Given the description of an element on the screen output the (x, y) to click on. 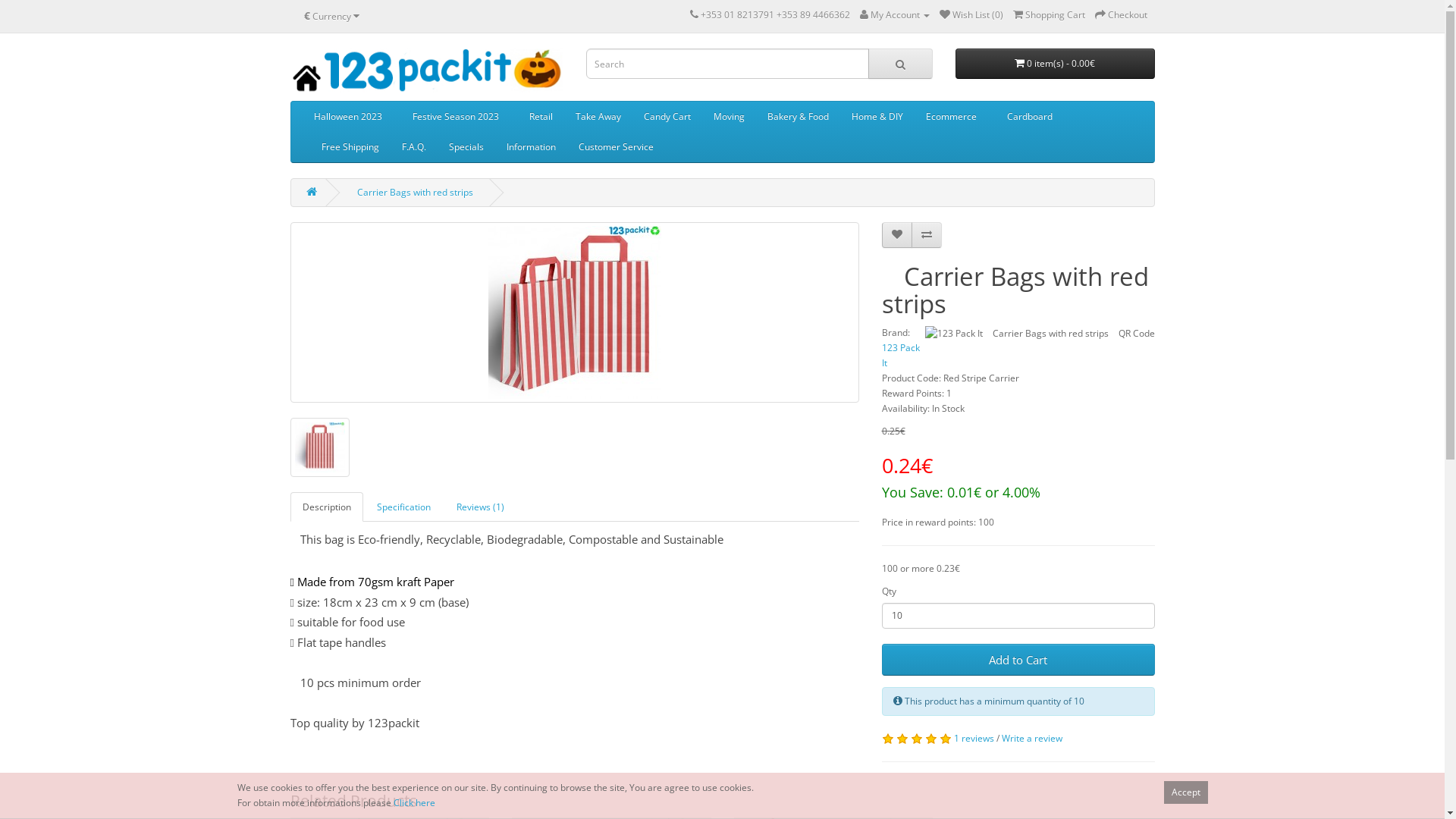
Specification Element type: text (403, 505)
Wish List (0) Element type: text (970, 14)
Information Element type: text (530, 146)
Bakery & Food Element type: text (797, 116)
Shopping Cart Element type: text (1049, 14)
Specials Element type: text (465, 146)
Customer Service Element type: text (616, 146)
Candy Cart Element type: text (667, 116)
123 Pack It Element type: text (900, 355)
My Account Element type: text (894, 14)
Ecommerce Element type: text (951, 116)
Retail Element type: text (540, 116)
1 reviews Element type: text (973, 737)
Add to Cart Element type: text (1017, 659)
Description Element type: text (325, 505)
Accept Element type: text (1185, 792)
Home & DIY Element type: text (877, 116)
Reviews (1) Element type: text (480, 505)
Checkout Element type: text (1121, 14)
F.A.Q. Element type: text (412, 146)
Take Away Element type: text (598, 116)
Halloween 2023 Element type: text (346, 116)
Click here Element type: text (413, 802)
Write a review Element type: text (1031, 737)
123 Pack It Element type: hover (425, 70)
Moving Element type: text (729, 116)
